Given the description of an element on the screen output the (x, y) to click on. 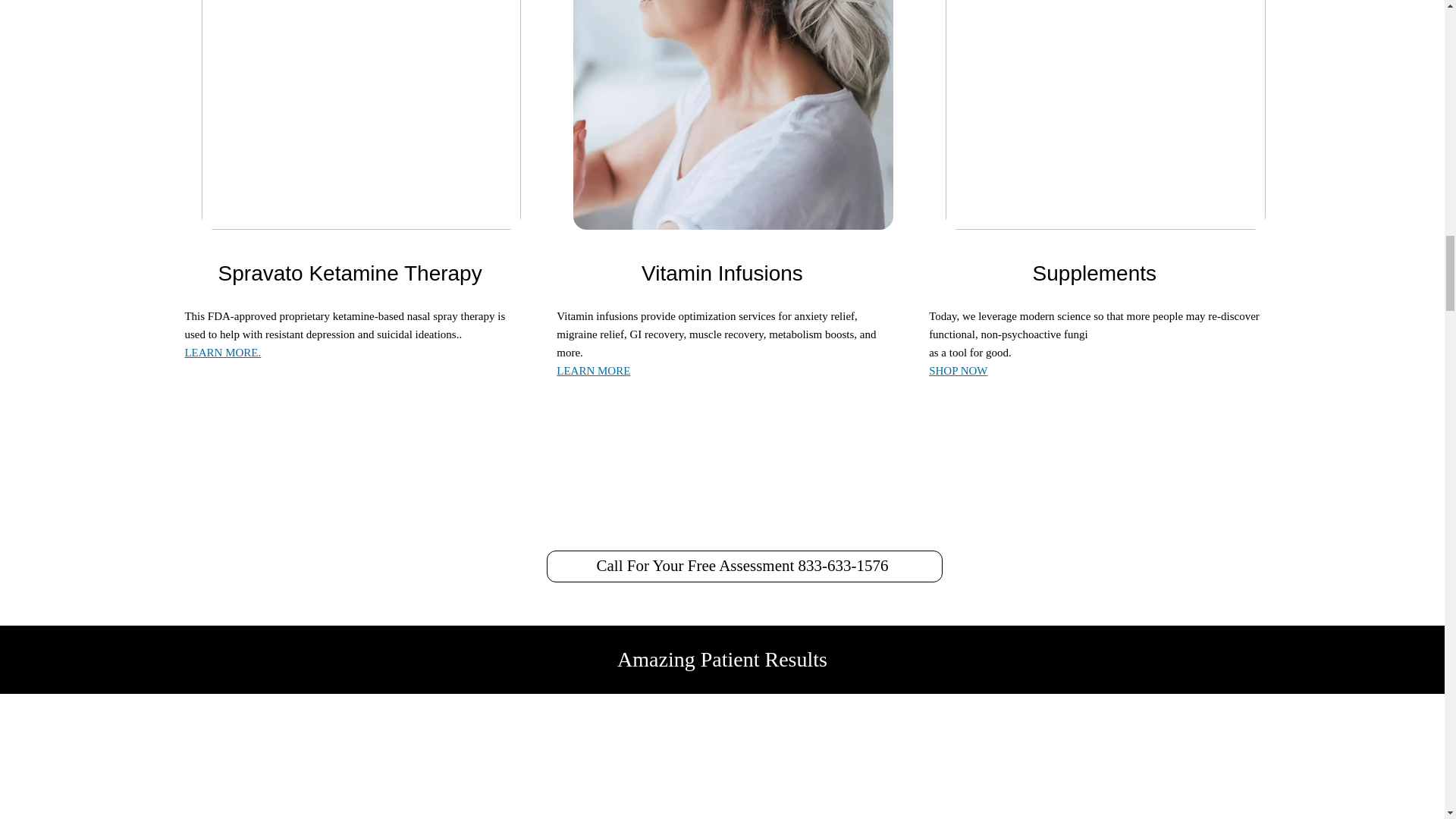
Call For Your Free Assessment 833-633-1576 (744, 566)
SHOP NOW (957, 370)
LEARN MORE (593, 370)
LEARN MORE. (222, 352)
